Given the description of an element on the screen output the (x, y) to click on. 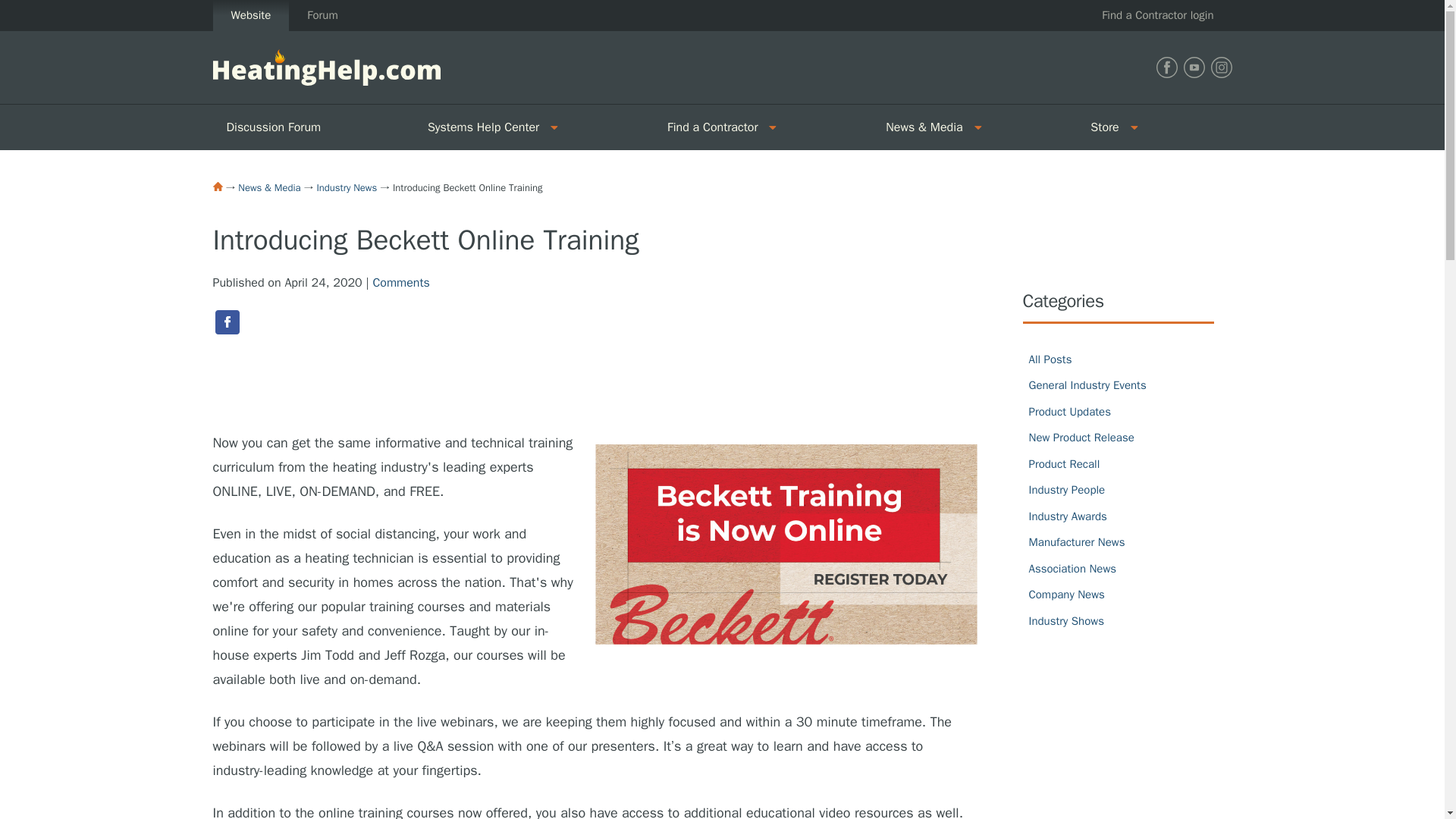
Website (250, 15)
Skip to Content (40, 9)
Find Heating Help on Facebook (1166, 66)
Forum (321, 15)
Find a Contractor login (1157, 15)
Home (217, 185)
Discussion Forum (312, 126)
Find Heating Help on Instagram (1220, 66)
Find Heating Help on Youtube (1193, 66)
Systems Help Center (478, 126)
